Given the description of an element on the screen output the (x, y) to click on. 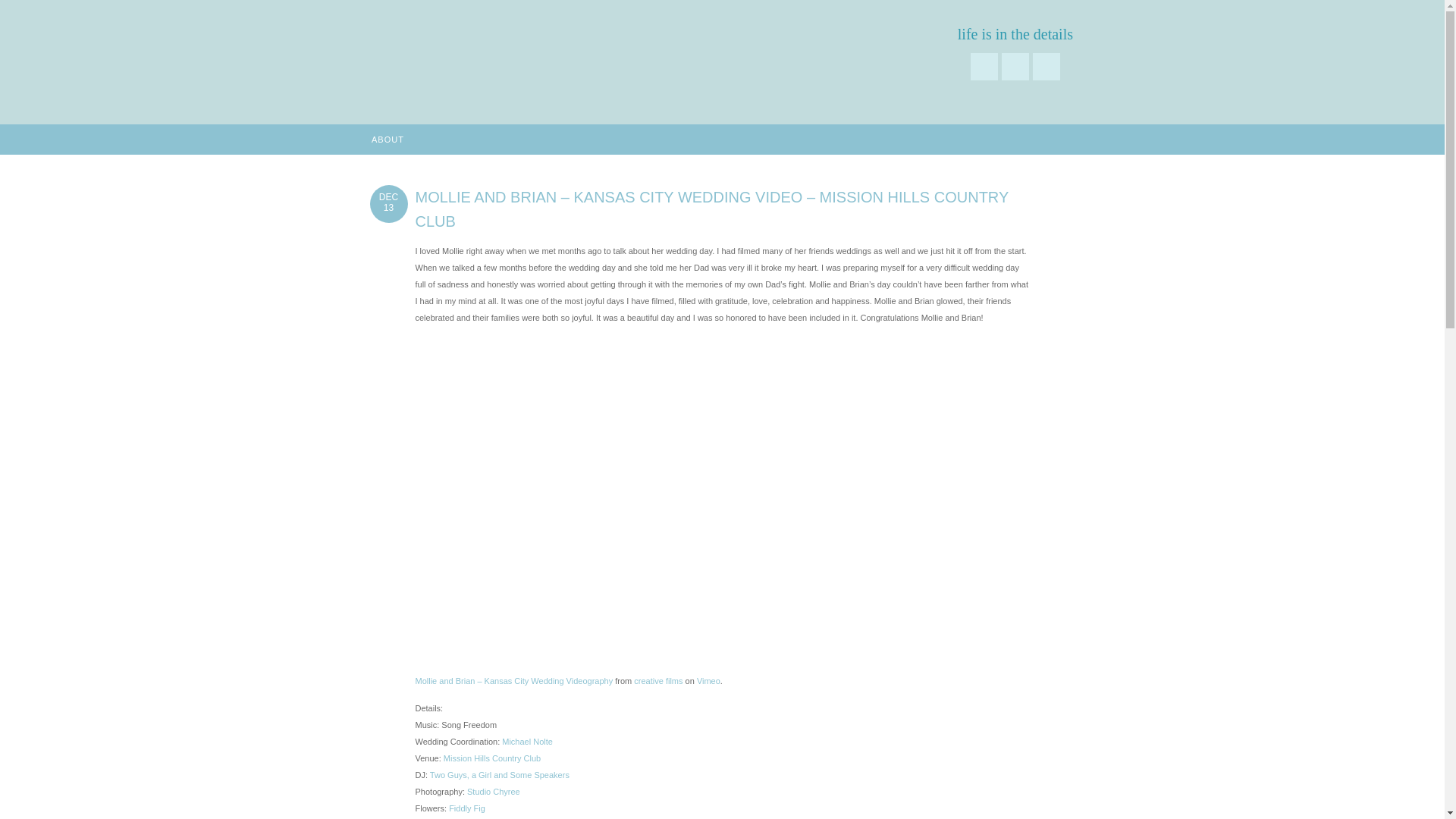
Michael Nolte (527, 741)
Mission Hills Country Club (492, 757)
Vimeo (708, 680)
Creative Films (492, 47)
Studio Chyree (493, 791)
ABOUT (387, 139)
Fiddly Fig (466, 808)
creative films (657, 680)
Two Guys, a Girl and Some Speakers (499, 774)
